Given the description of an element on the screen output the (x, y) to click on. 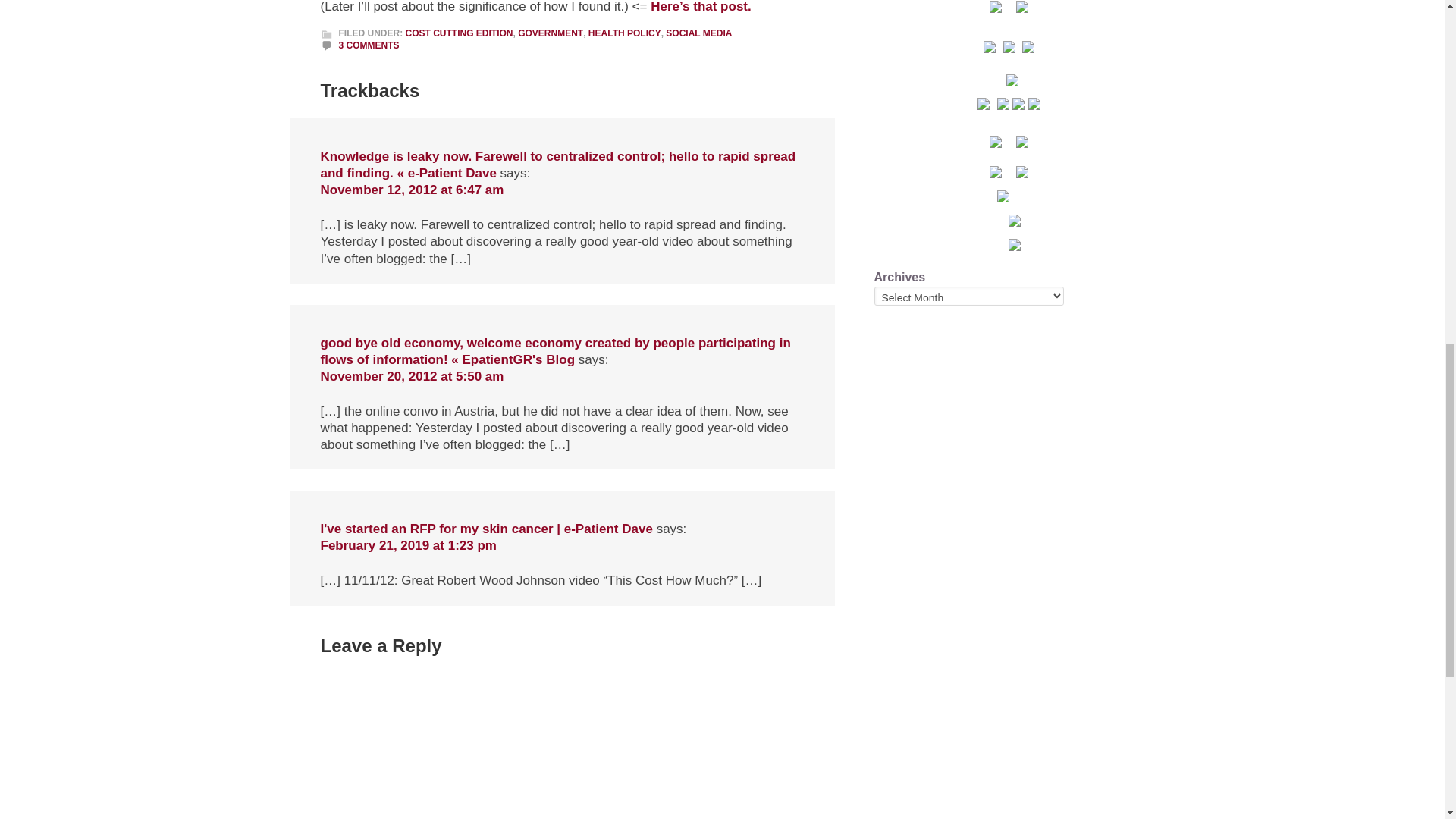
COST CUTTING EDITION (458, 32)
November 12, 2012 at 6:47 am (411, 189)
Comment Form (577, 743)
HEALTH POLICY (624, 32)
GOVERNMENT (550, 32)
SOCIAL MEDIA (698, 32)
3 COMMENTS (367, 45)
